Given the description of an element on the screen output the (x, y) to click on. 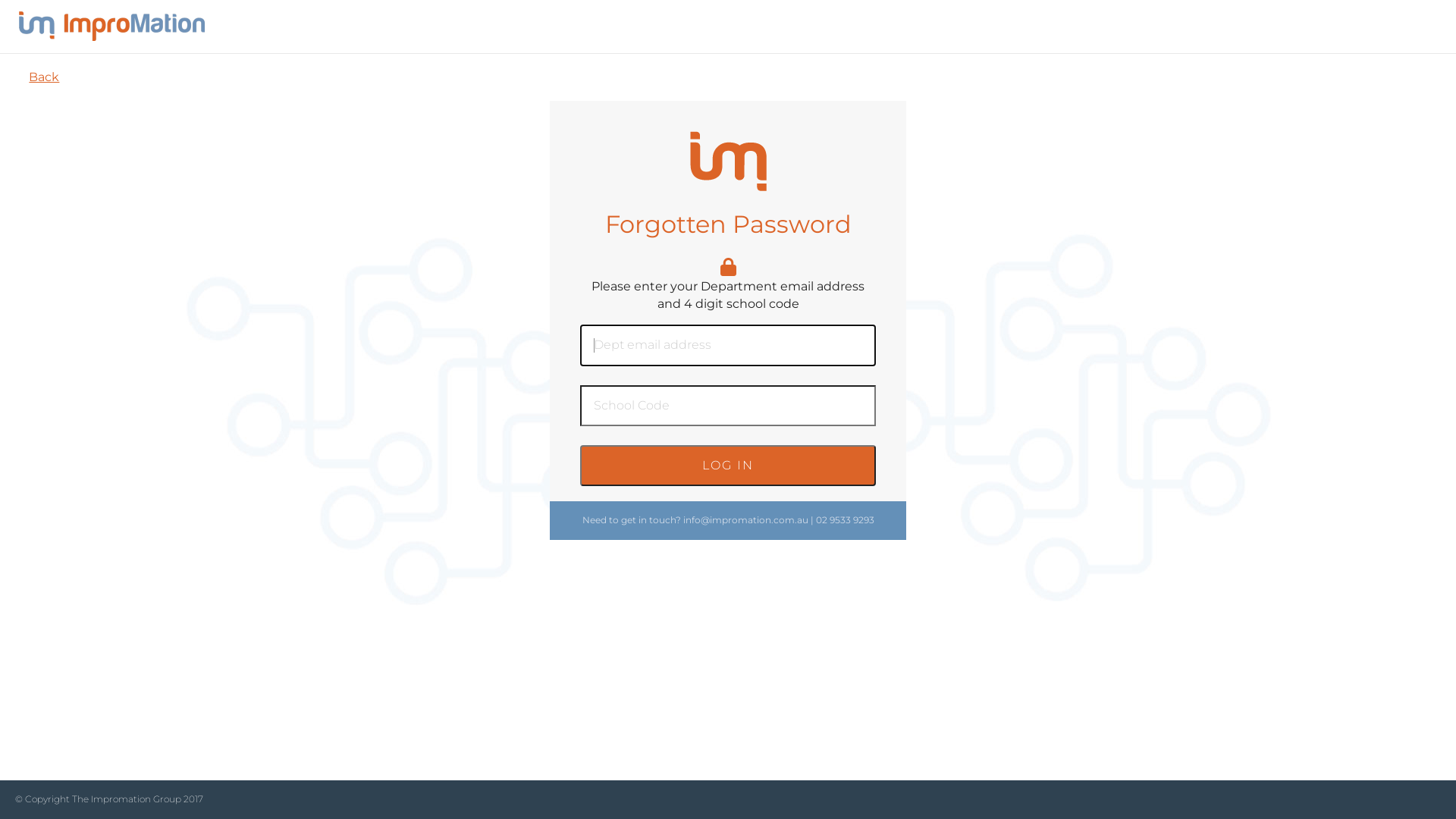
Back Element type: text (43, 76)
